Given the description of an element on the screen output the (x, y) to click on. 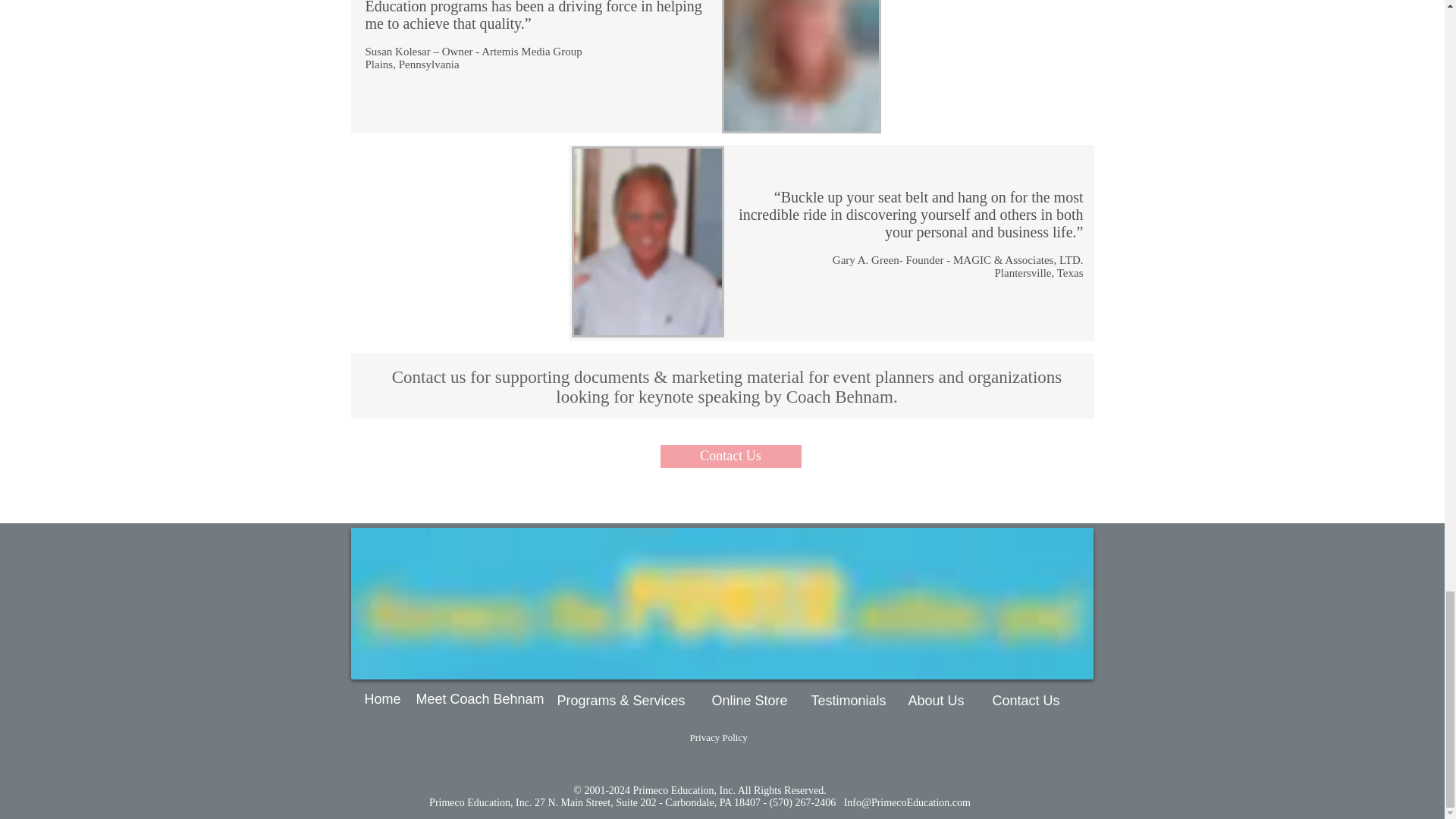
Testimonials (851, 701)
Home (387, 699)
Happy Customer (647, 241)
Happy Customer (801, 66)
About Us (941, 701)
Contact Us (1025, 701)
Privacy Policy (724, 737)
Online Store (752, 701)
Contact Us (729, 456)
Meet Coach Behnam (482, 700)
